Given the description of an element on the screen output the (x, y) to click on. 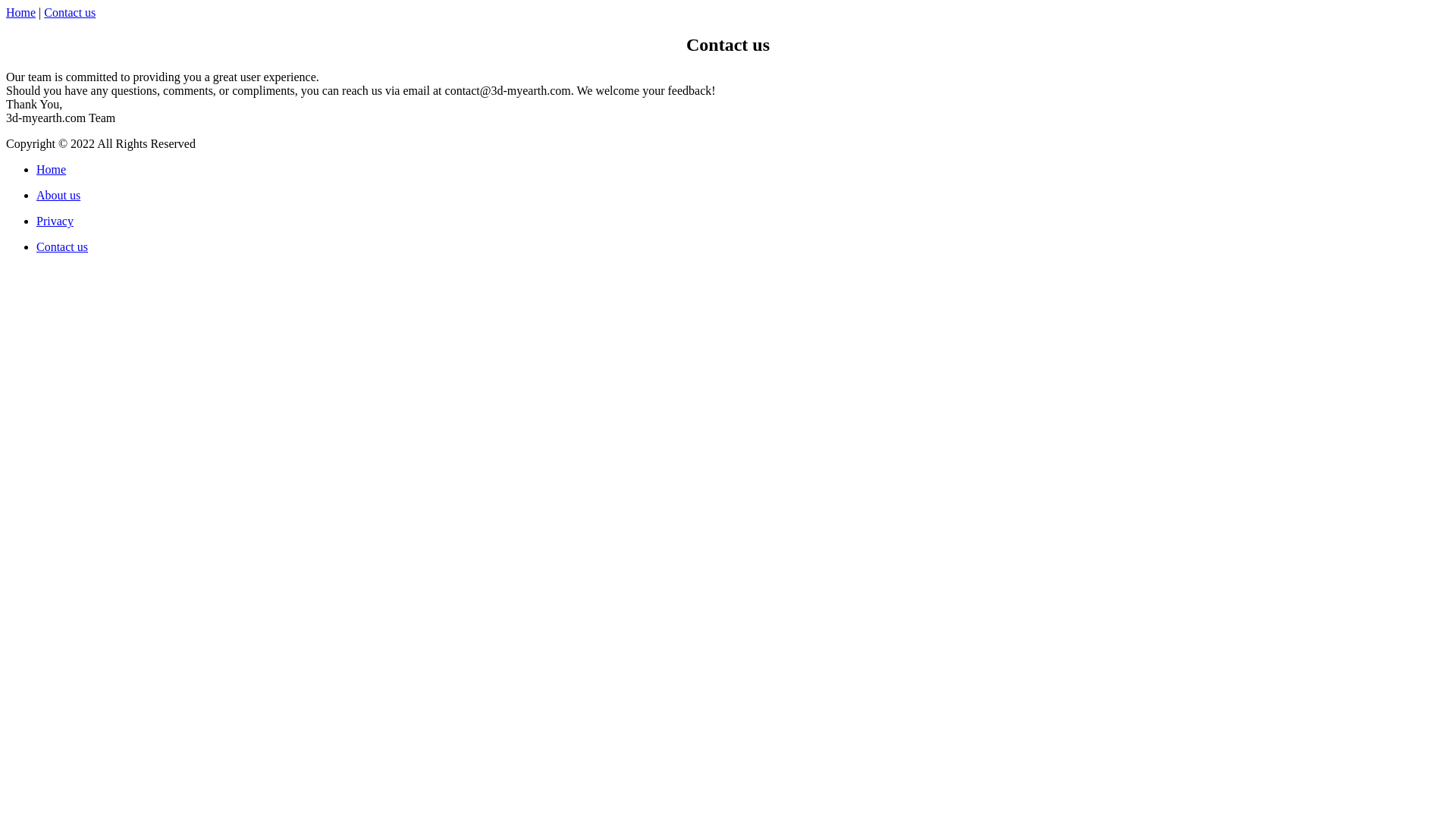
Home Element type: text (50, 169)
Contact us Element type: text (69, 12)
Privacy Element type: text (54, 220)
Home Element type: text (20, 12)
Contact us Element type: text (61, 246)
About us Element type: text (58, 194)
